Given the description of an element on the screen output the (x, y) to click on. 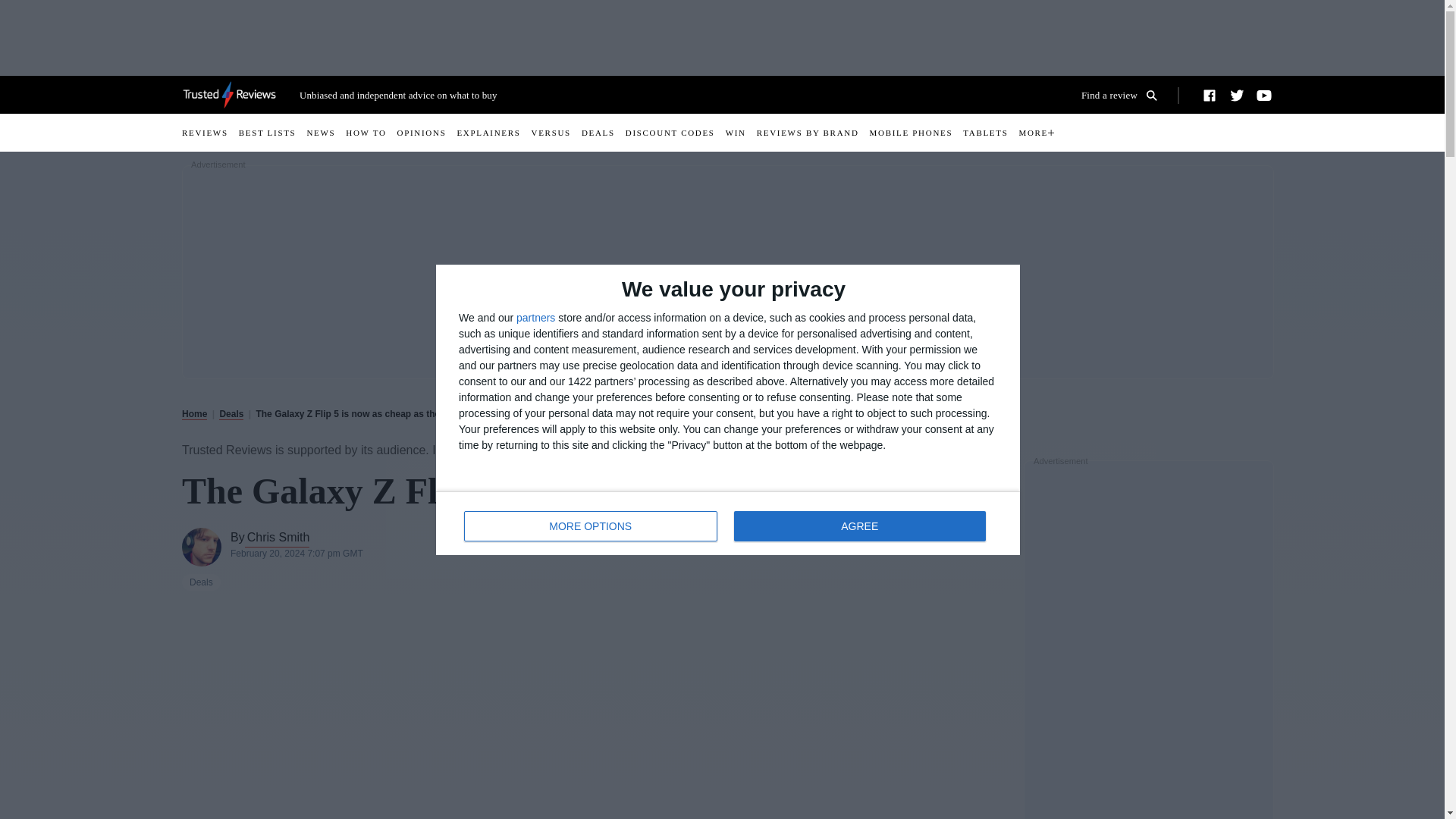
Trusted Reviews (229, 94)
BEST LISTS (272, 132)
Find a review (1124, 94)
AGREE (727, 523)
See more menu items (859, 526)
Search the site (1040, 132)
MORE OPTIONS (1124, 94)
REVIEWS (590, 526)
partners (210, 132)
